Given the description of an element on the screen output the (x, y) to click on. 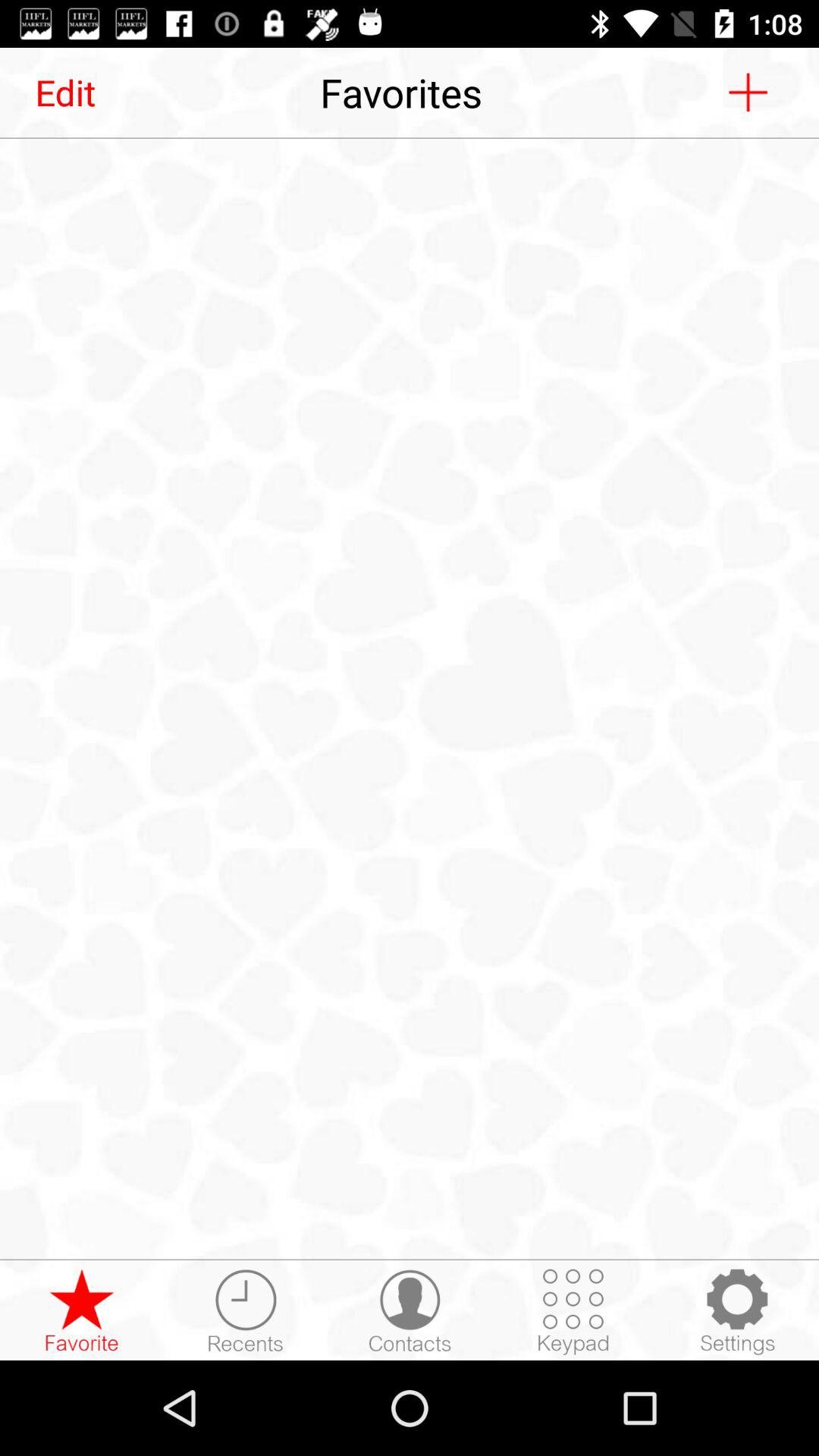
view recent calls (245, 1311)
